Given the description of an element on the screen output the (x, y) to click on. 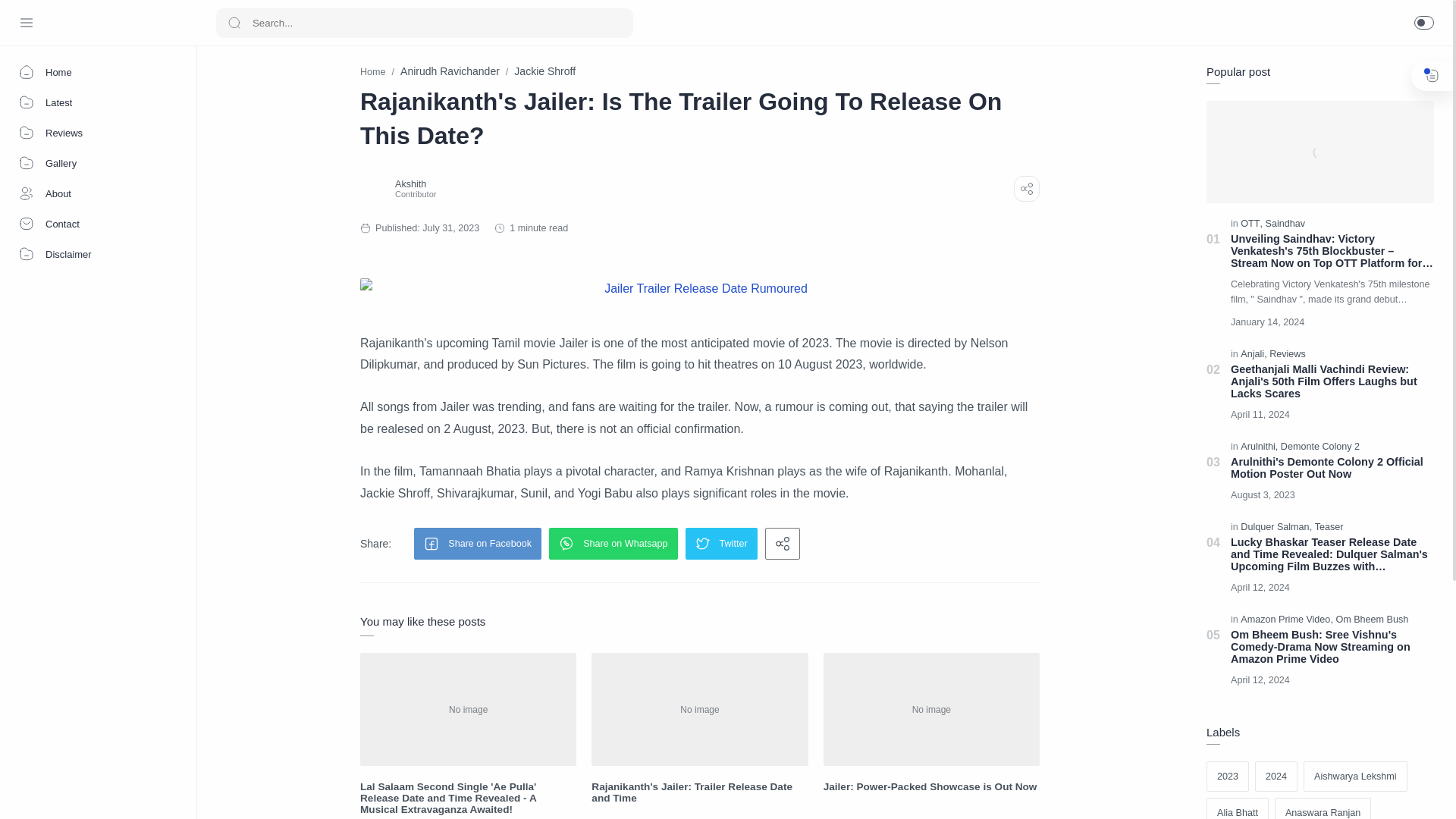
Anirudh Ravichander (449, 70)
Gallery (98, 163)
Contact (98, 223)
Jailer: Power-Packed Showcase is Out Now (931, 786)
Published: August 3, 2023 (1266, 494)
Home (98, 71)
Disclaimer (98, 254)
Home (372, 71)
About (98, 193)
Published: April 12, 2024 (1263, 679)
Published: January 14, 2024 (1270, 322)
Published: July 31, 2023 (435, 227)
Jackie Shroff (544, 70)
Share to Twitter (721, 543)
